Given the description of an element on the screen output the (x, y) to click on. 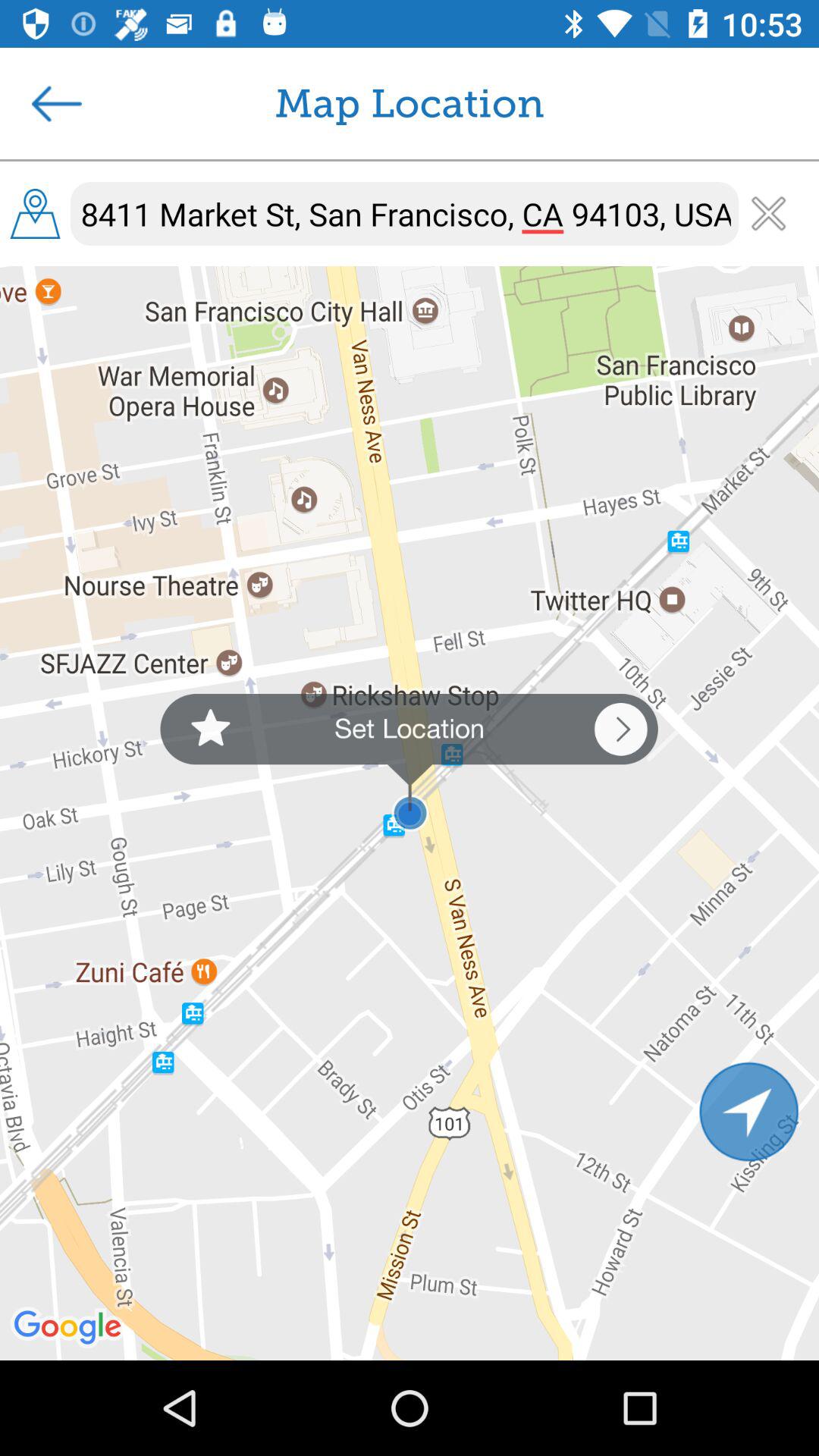
set location (409, 762)
